Given the description of an element on the screen output the (x, y) to click on. 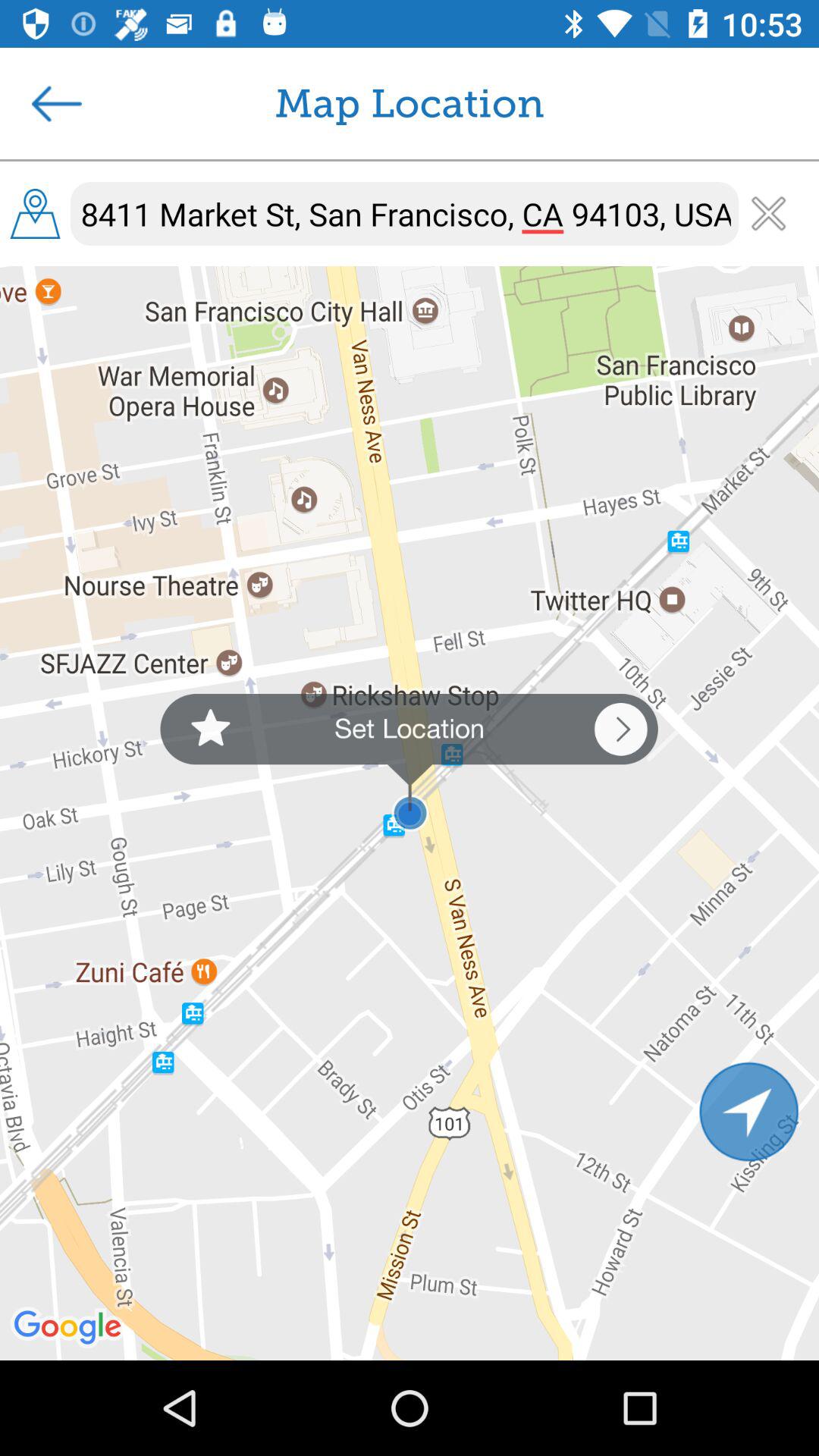
set location (409, 762)
